Given the description of an element on the screen output the (x, y) to click on. 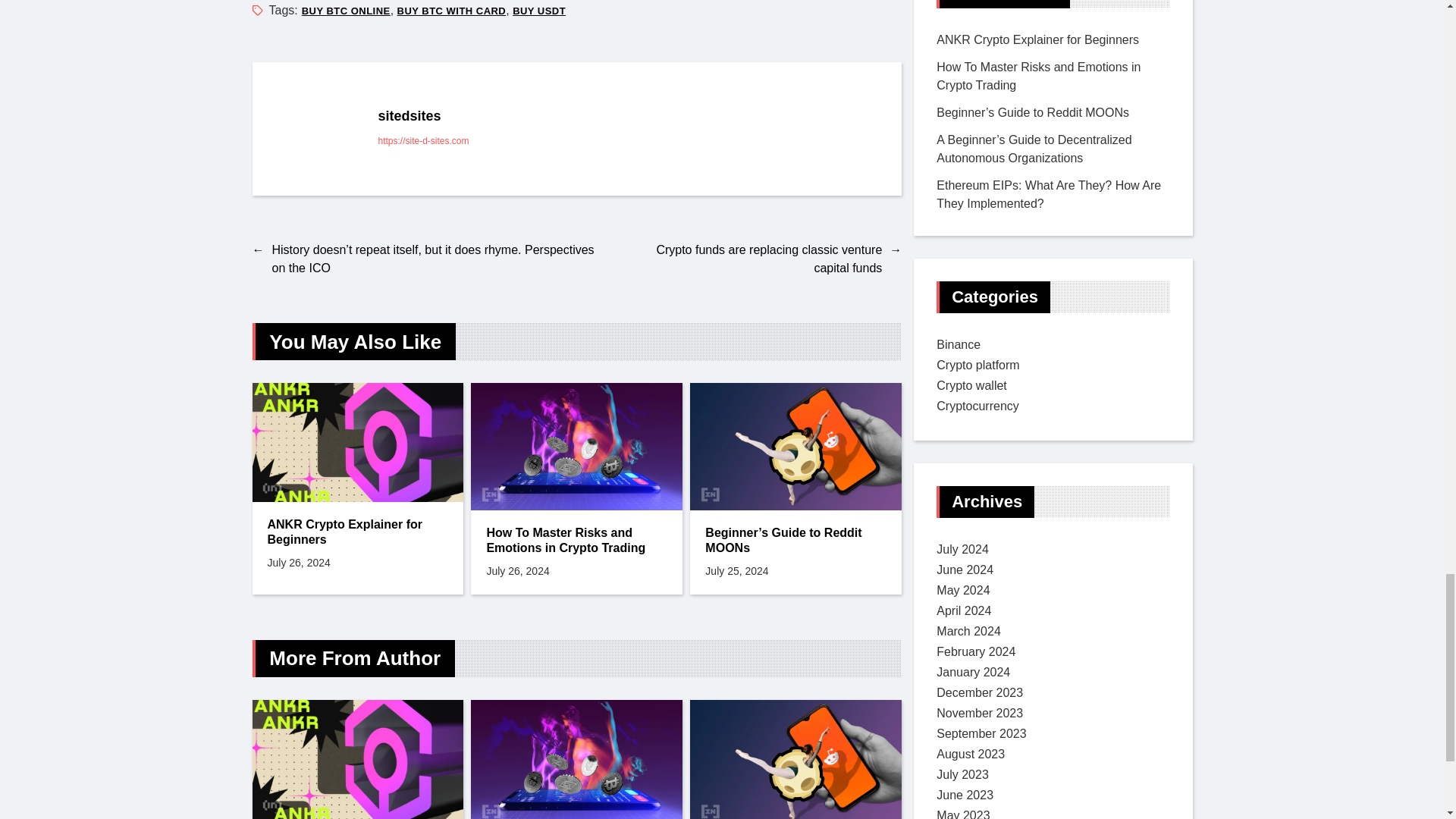
BUY BTC ONLINE (345, 10)
ANKR Crypto Explainer for Beginners (357, 531)
sitedsites (628, 116)
sitedsites (628, 116)
BUY BTC WITH CARD (451, 10)
sitedsites (318, 128)
BUY USDT (539, 10)
How To Master Risks and Emotions in Crypto Trading (576, 540)
